Given the description of an element on the screen output the (x, y) to click on. 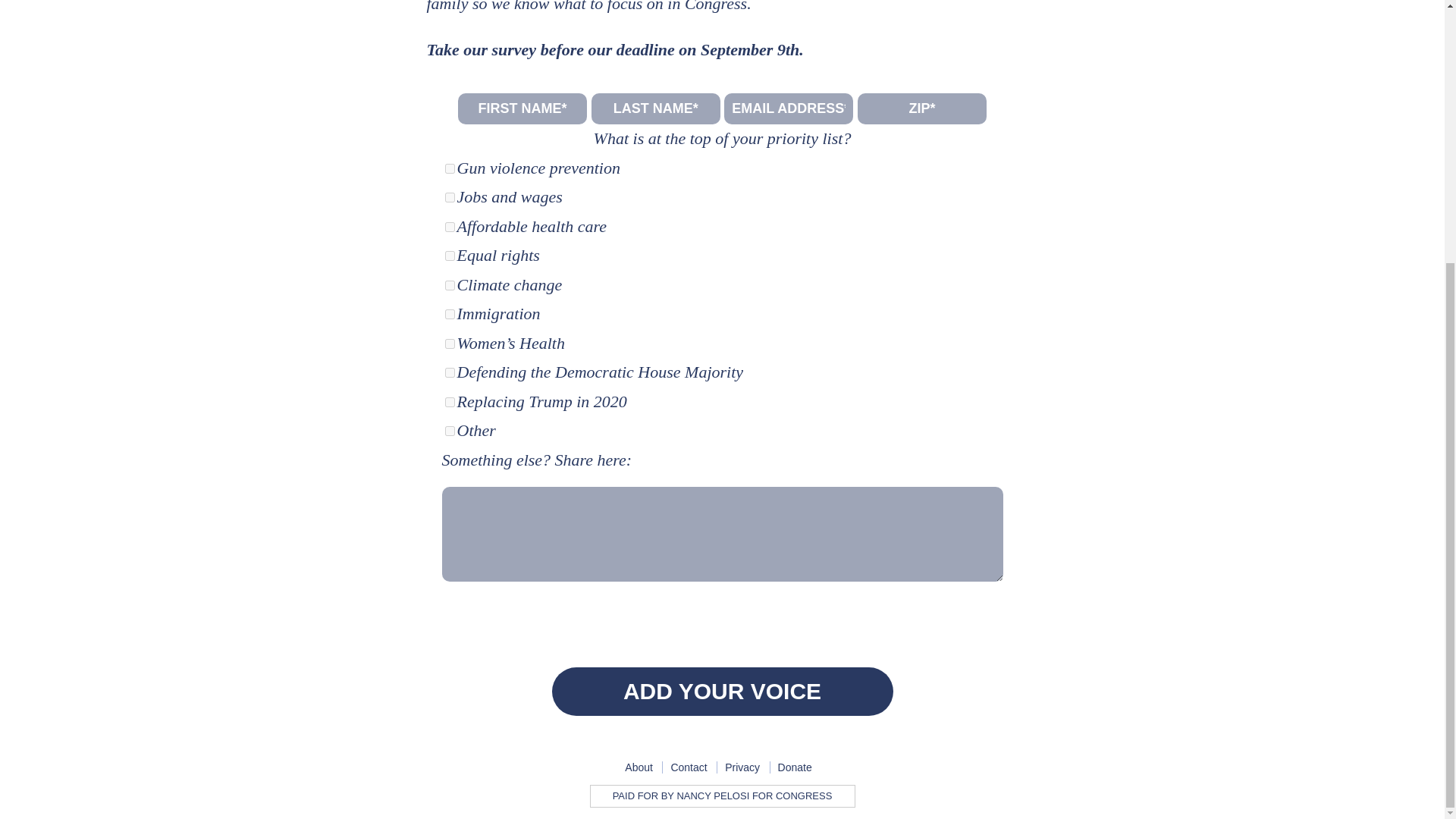
1 (449, 255)
Contact (687, 767)
Privacy (742, 767)
1 (449, 402)
1 (449, 285)
1 (449, 430)
1 (449, 168)
1 (449, 197)
Add Your Voice (722, 691)
1 (449, 343)
